Given the description of an element on the screen output the (x, y) to click on. 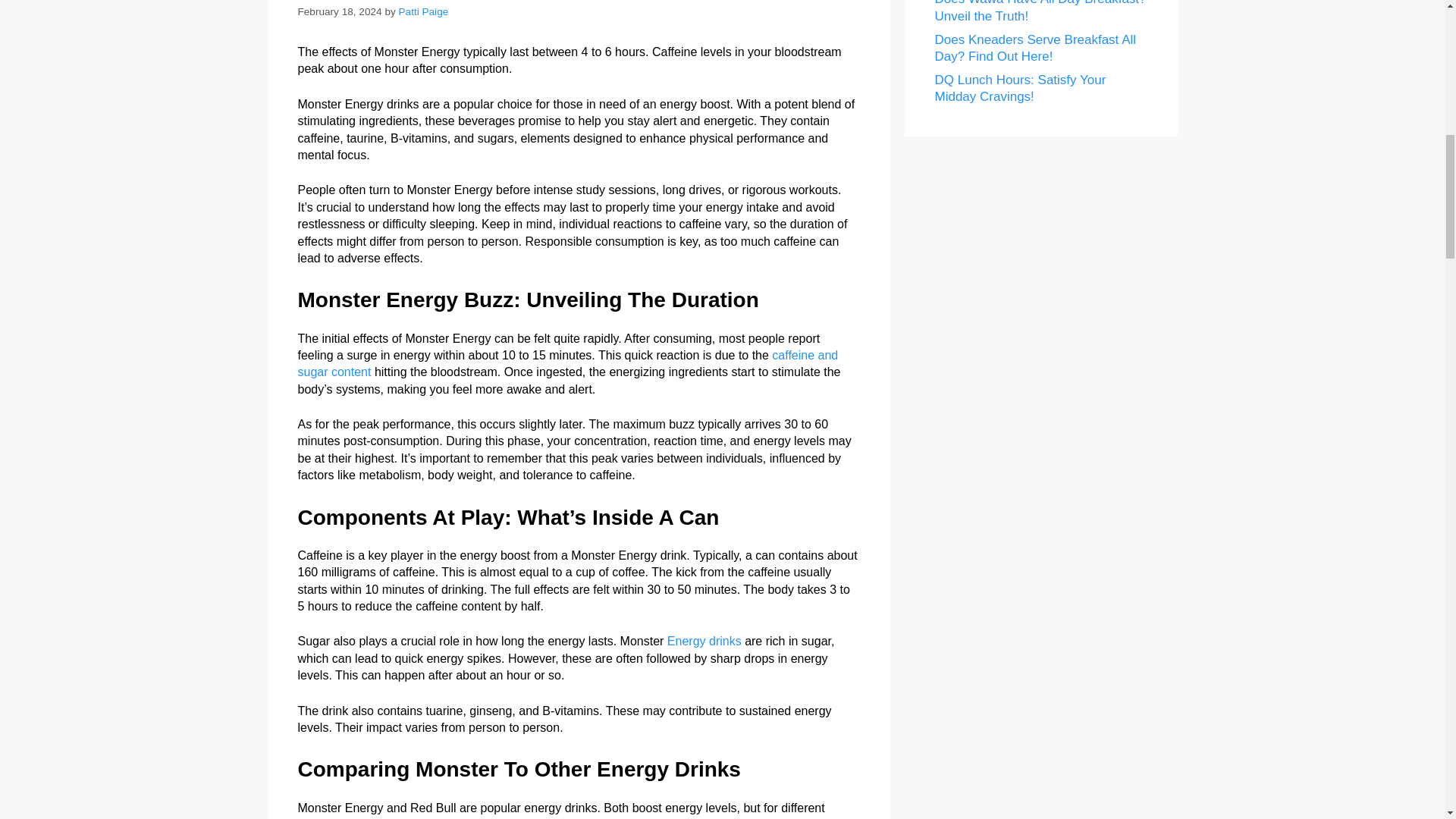
caffeine and sugar content (567, 363)
Patti Paige (423, 11)
View all posts by Patti Paige (423, 11)
